Given the description of an element on the screen output the (x, y) to click on. 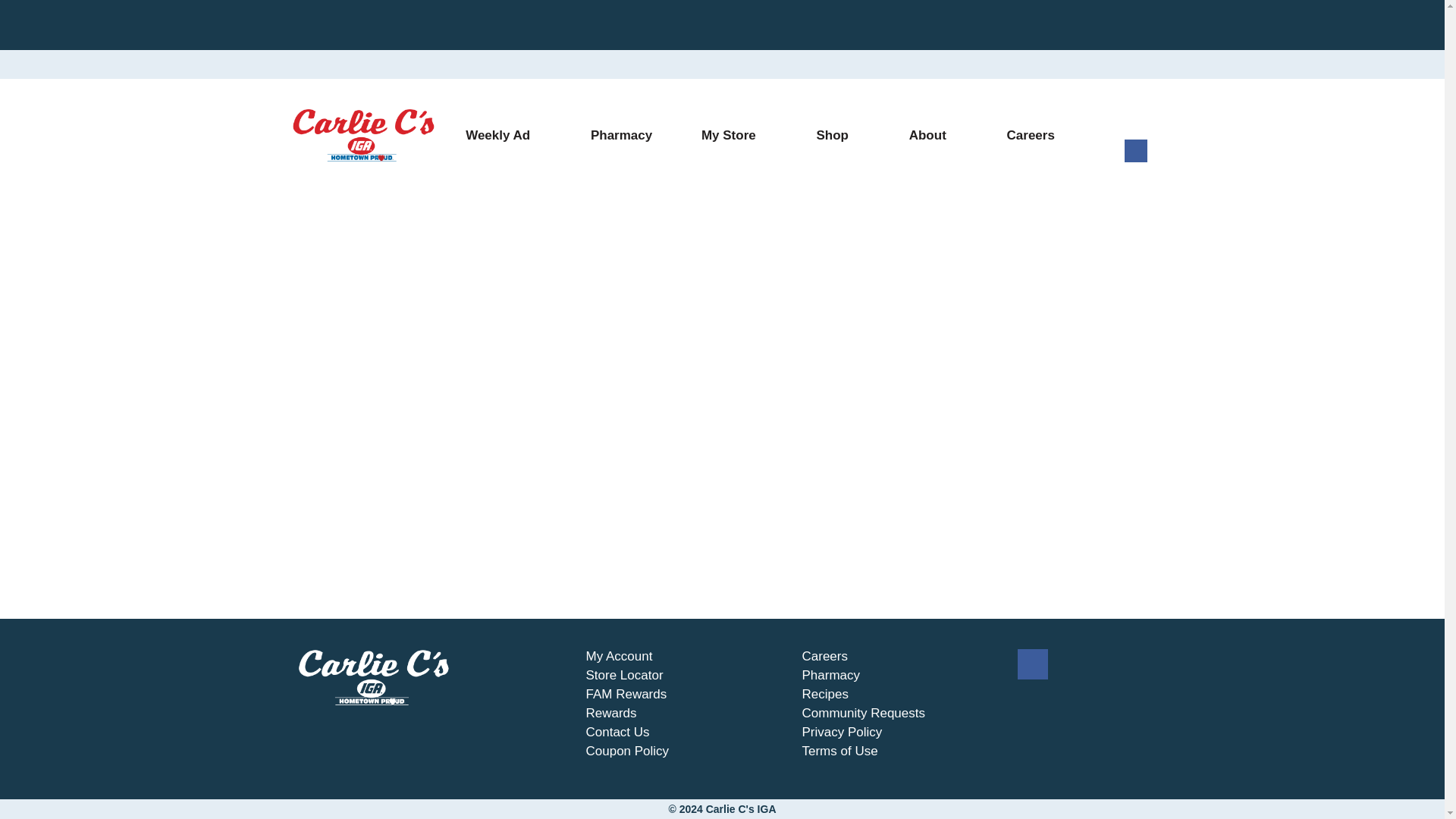
Rewards (610, 713)
About (932, 135)
Pharmacy (621, 135)
FAM Rewards (625, 694)
Contact Us (617, 732)
Weekly Ad (503, 135)
Store Locator (623, 675)
Careers (1030, 135)
Facebook (1135, 157)
My Store (734, 135)
